Given the description of an element on the screen output the (x, y) to click on. 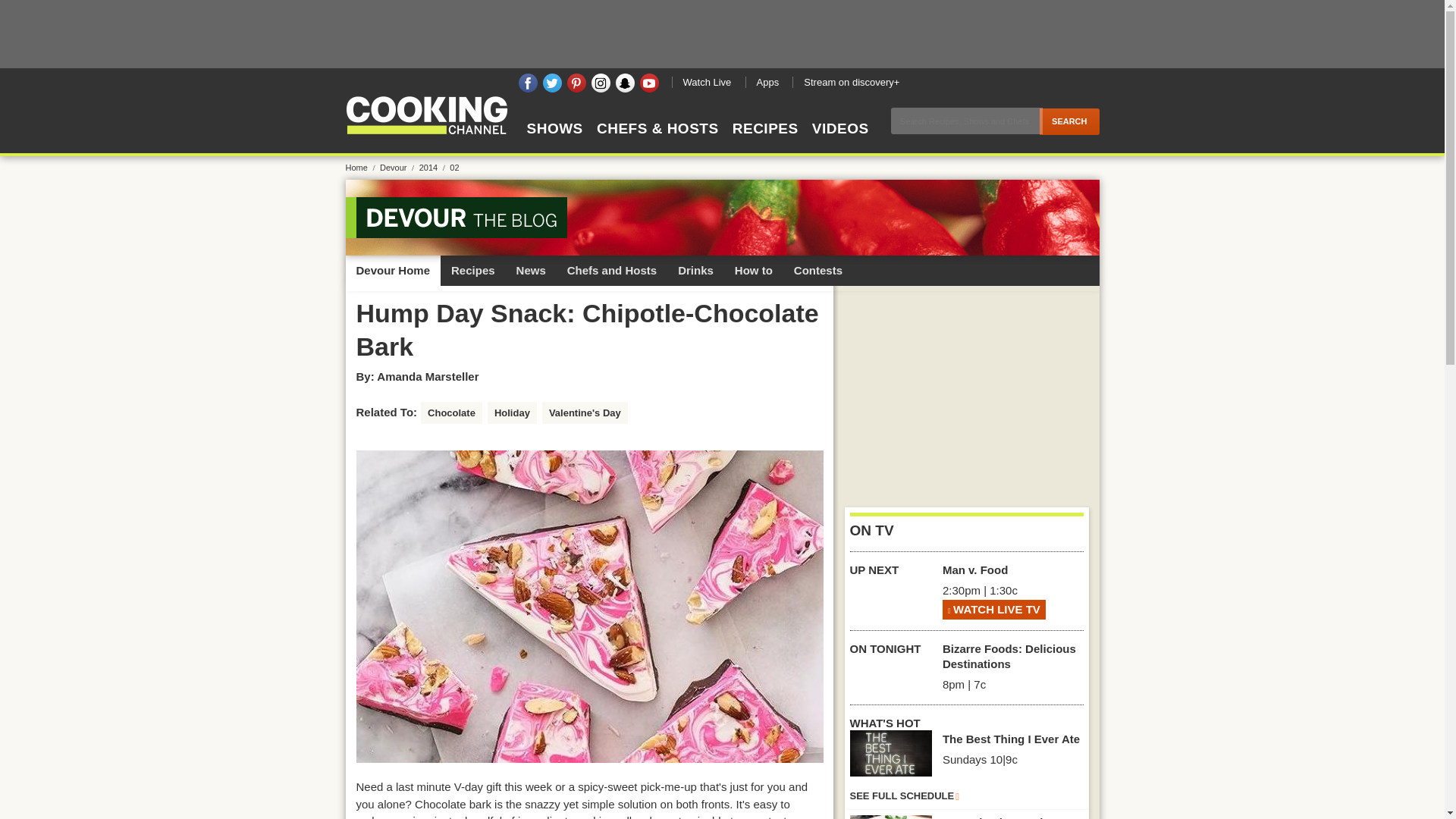
Follow us on Instagram (600, 82)
Follow us on YouTube (649, 82)
Follow us on Snapchat (624, 82)
Drinks (694, 269)
News (530, 269)
Recipes (473, 269)
Contests (818, 269)
Chocolate (450, 413)
The Best Thing I Ever Ate (889, 753)
Apps (766, 81)
Chefs and Hosts (611, 269)
Follow us on Facebook (527, 82)
How to (753, 269)
3rd party ad content (965, 391)
Watch Live (706, 81)
